Given the description of an element on the screen output the (x, y) to click on. 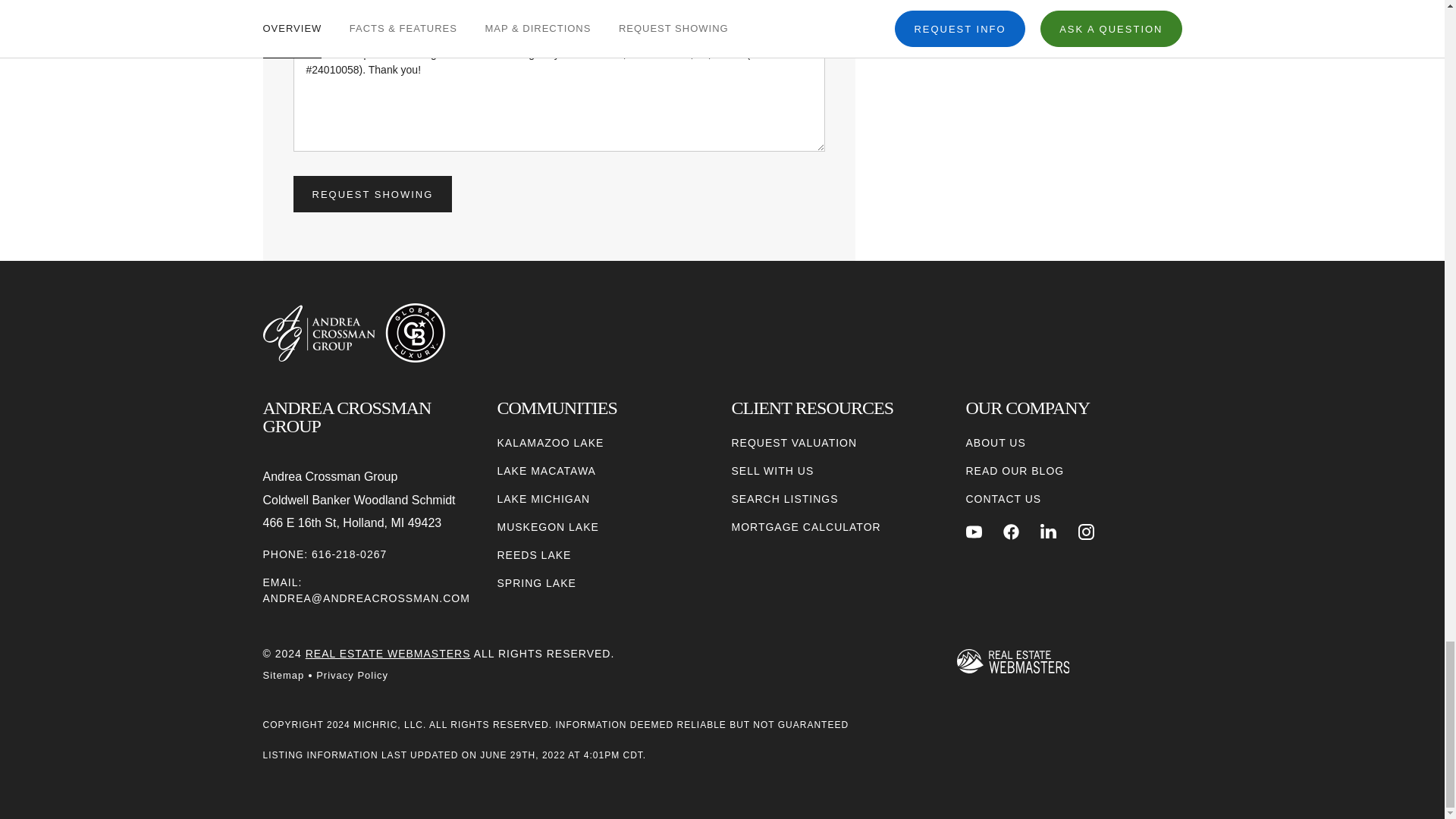
LINKEDIN (1049, 531)
FACEBOOK (1011, 531)
YOUTUBE (973, 531)
